Given the description of an element on the screen output the (x, y) to click on. 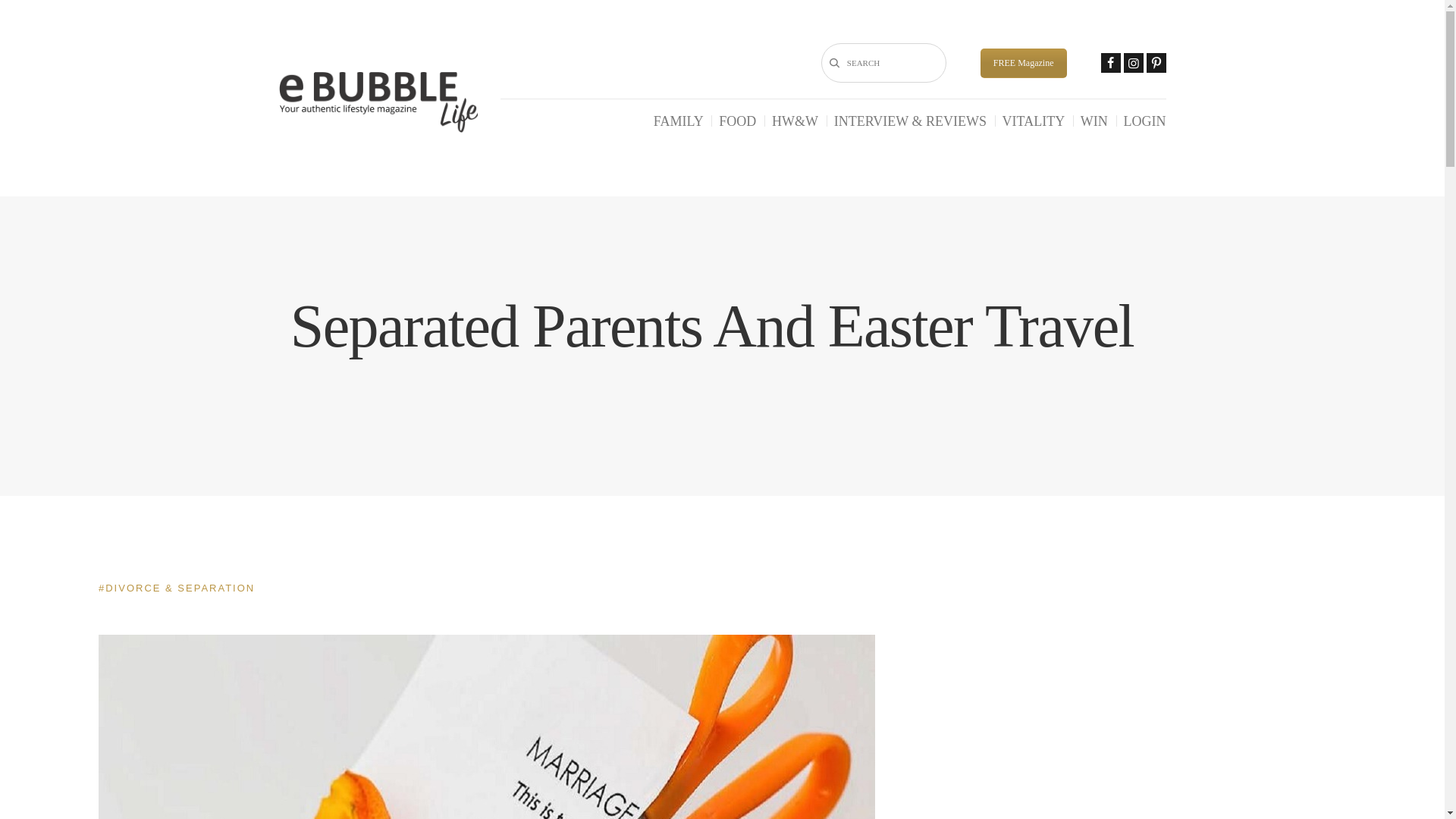
LOGIN (1145, 121)
FREE Magazine (1023, 62)
FAMILY (678, 121)
VITALITY (1034, 121)
FOOD (737, 121)
WIN (1094, 121)
